Given the description of an element on the screen output the (x, y) to click on. 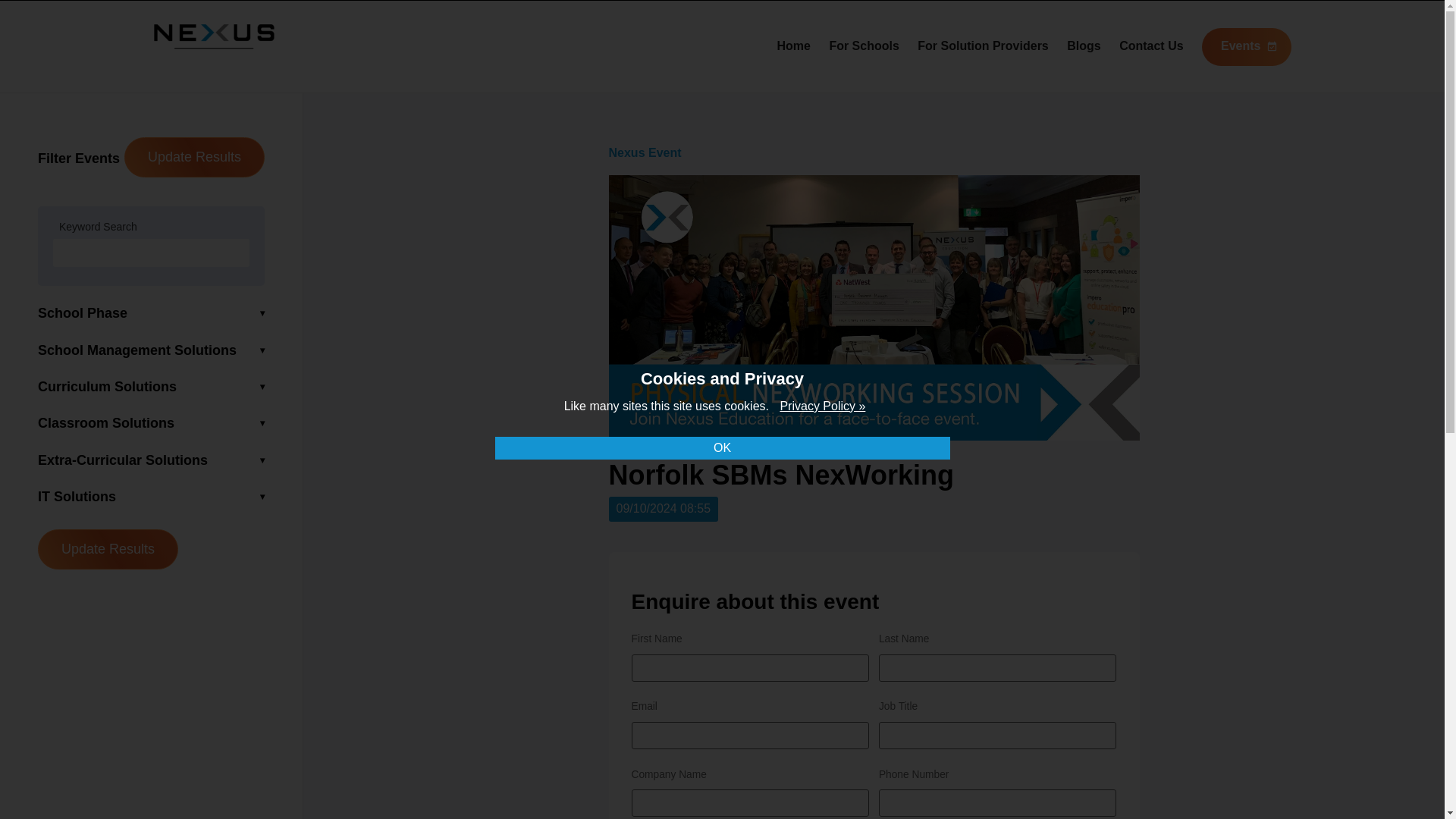
Update Results (107, 549)
Cookie Notice (821, 405)
For Schools (863, 46)
Nexus Education (213, 43)
For Solution Providers (982, 46)
Blogs (1083, 46)
Contact Us (1151, 46)
Update Results (193, 157)
Events (1246, 46)
Home (792, 46)
